Given the description of an element on the screen output the (x, y) to click on. 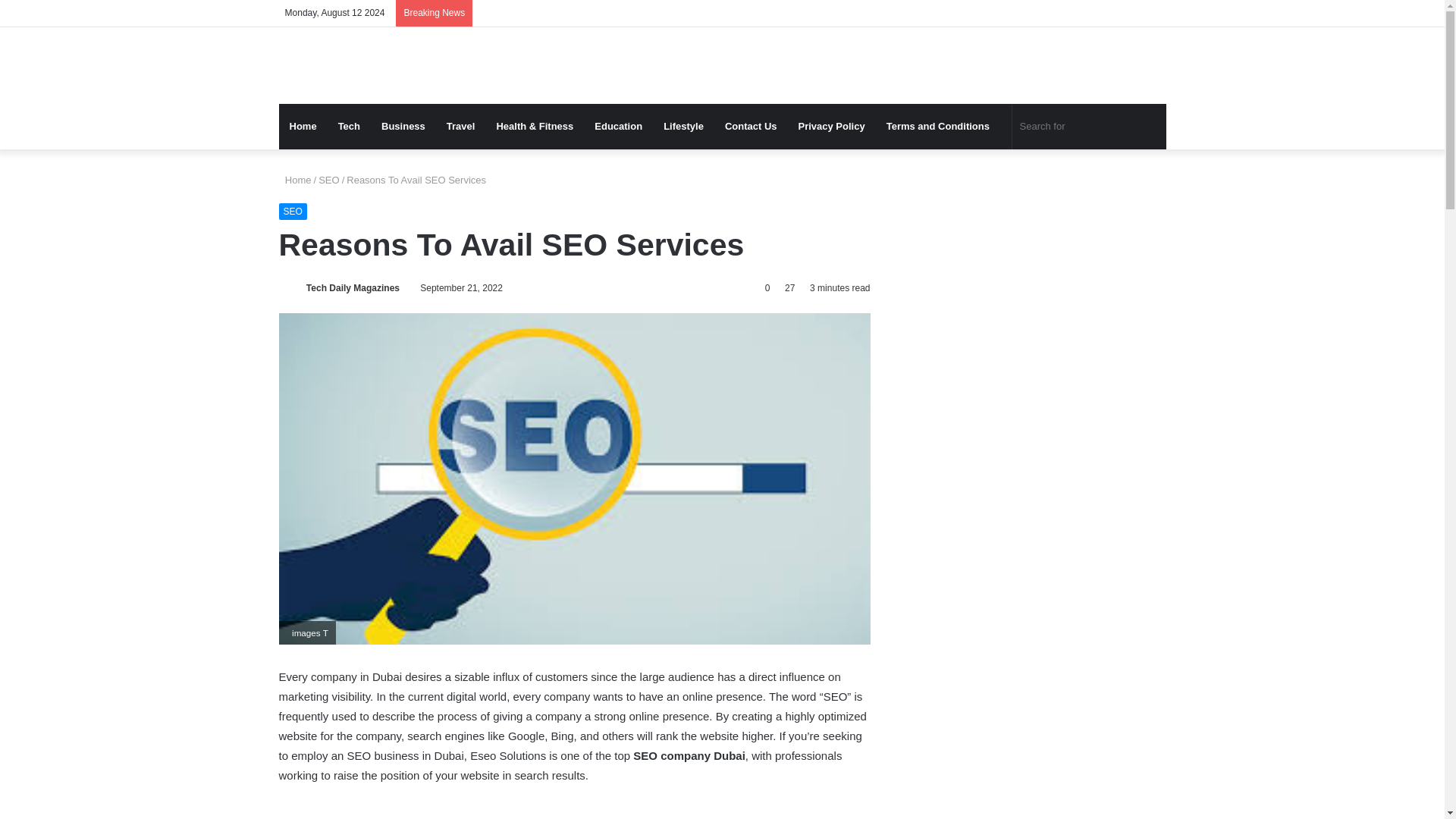
SEO (328, 179)
Home (303, 126)
Home (295, 179)
Search for (1088, 126)
Tech (349, 126)
Tech Daily Magazines (351, 287)
Terms and Conditions  (939, 126)
Travel (460, 126)
SEO (293, 211)
Tech Daily Magazines (351, 287)
